Given the description of an element on the screen output the (x, y) to click on. 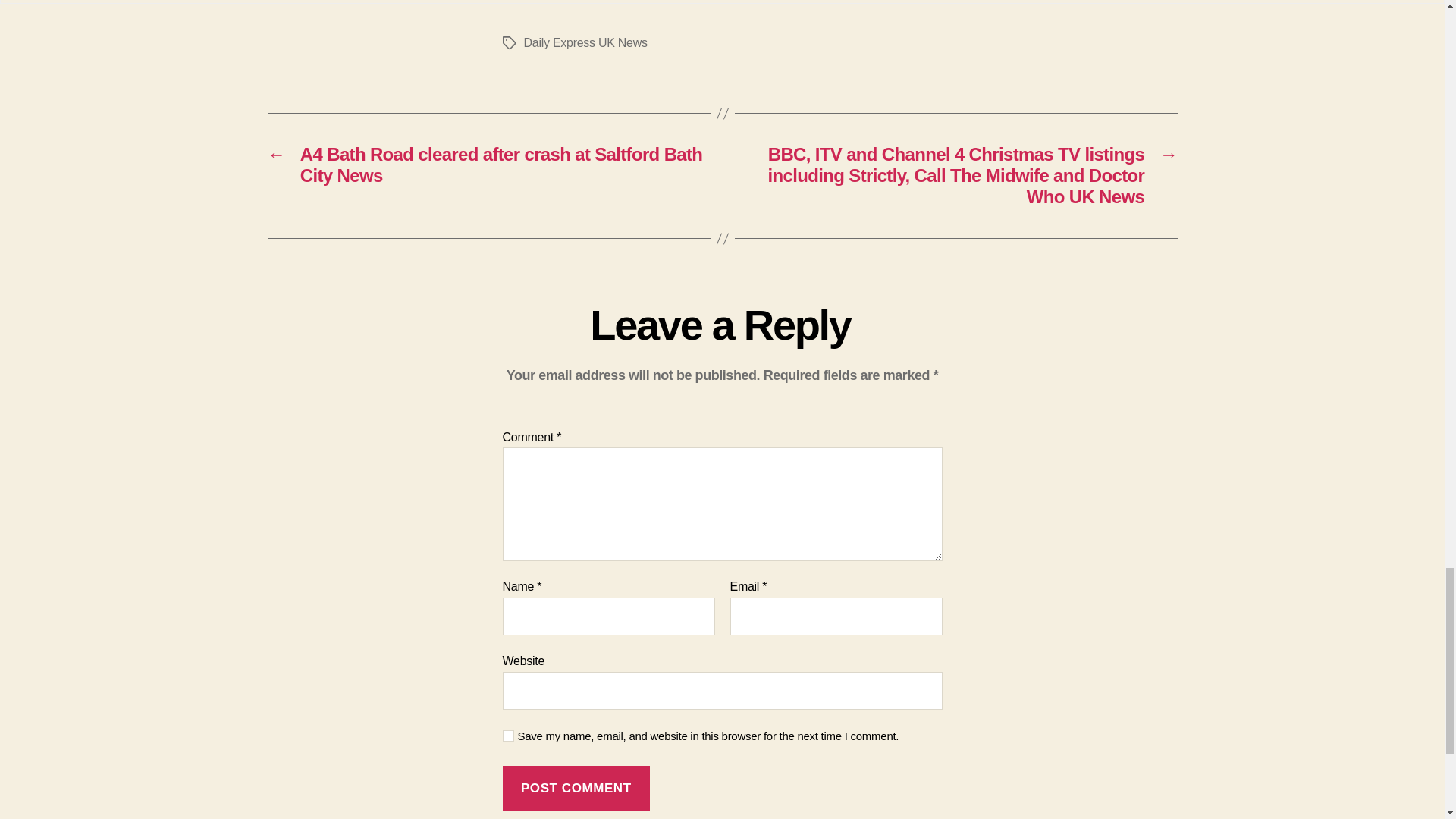
Daily Express UK News (584, 42)
Post Comment (575, 787)
yes (507, 736)
Post Comment (575, 787)
